Given the description of an element on the screen output the (x, y) to click on. 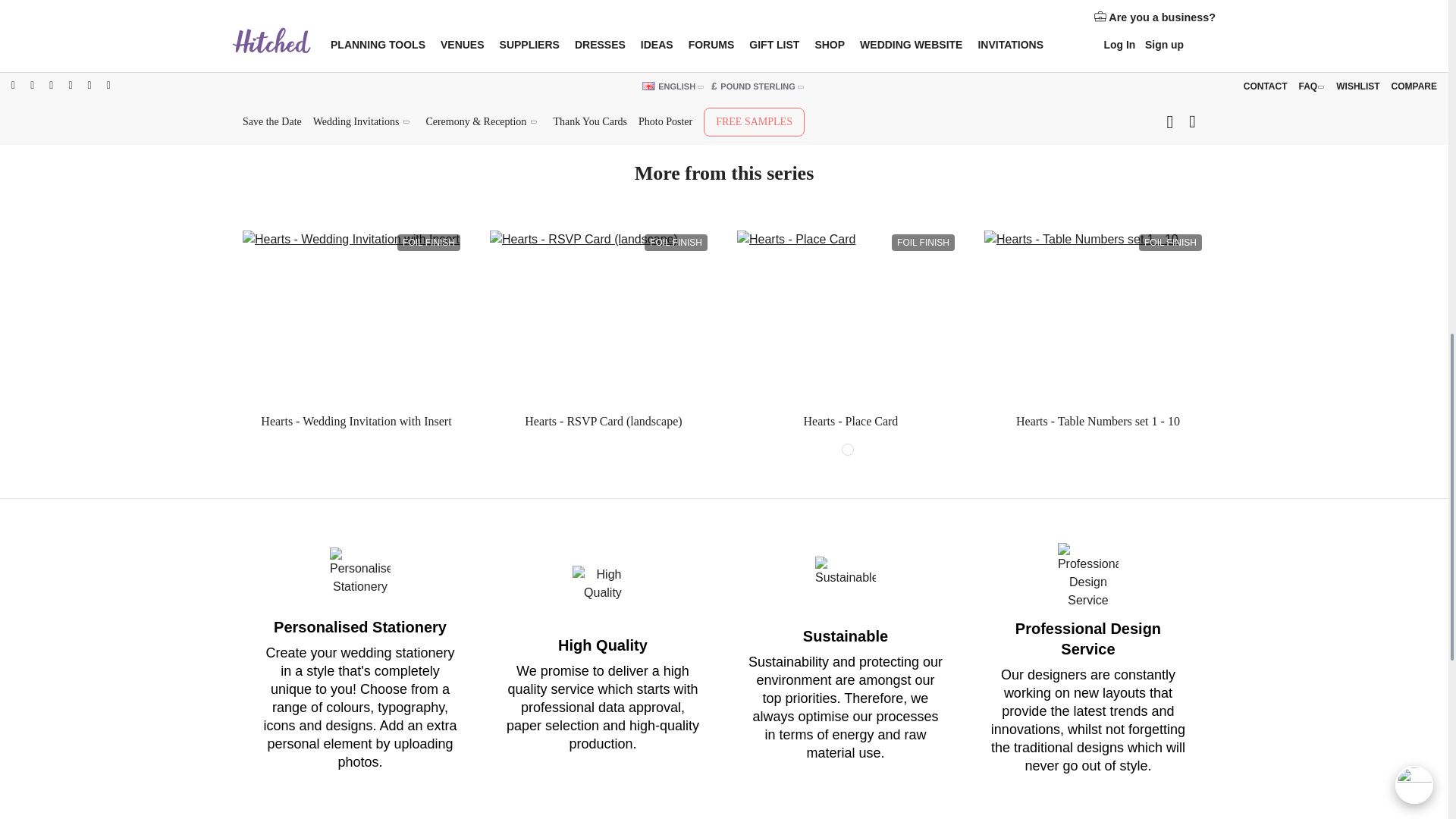
Hearts - Wedding Invitation with Insert (353, 318)
